Given the description of an element on the screen output the (x, y) to click on. 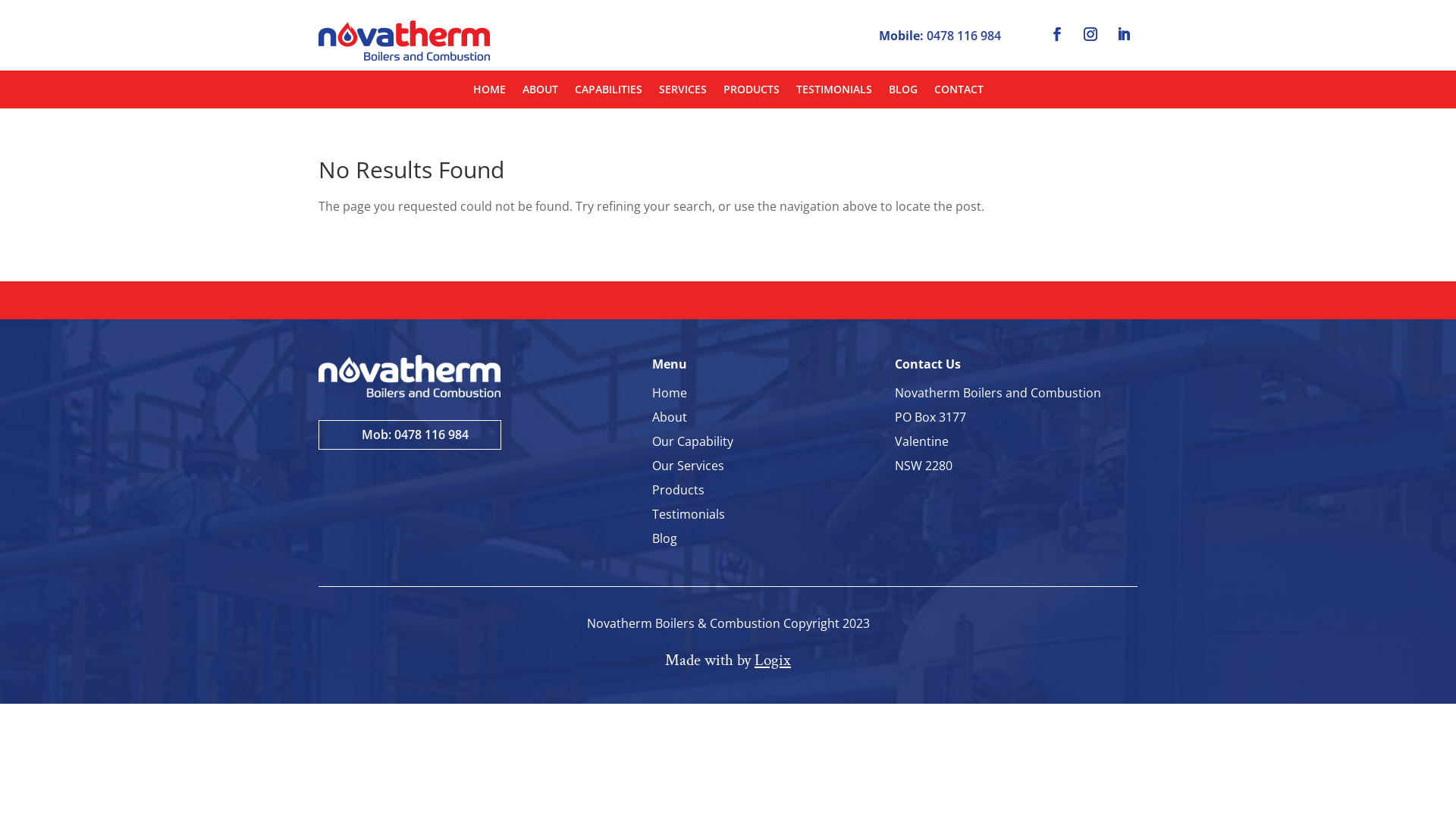
Our Capability Element type: text (692, 441)
Mob: 0478 116 984 Element type: text (409, 434)
nova therm - logo Element type: hover (403, 40)
Follow on Facebook Element type: hover (1056, 33)
Products Element type: text (678, 489)
ABOUT Element type: text (539, 92)
About Element type: text (669, 416)
Follow on Instagram Element type: hover (1090, 33)
SERVICES Element type: text (682, 92)
Our Services Element type: text (688, 465)
CONTACT Element type: text (958, 92)
Follow on LinkedIn Element type: hover (1123, 33)
BLOG Element type: text (902, 92)
Testimonials Element type: text (688, 513)
Logix Element type: text (772, 659)
TESTIMONIALS Element type: text (834, 92)
Blog Element type: text (664, 538)
Home Element type: text (669, 392)
novatherm - white logo Element type: hover (409, 375)
HOME Element type: text (489, 92)
CAPABILITIES Element type: text (608, 92)
PRODUCTS Element type: text (751, 92)
